Given the description of an element on the screen output the (x, y) to click on. 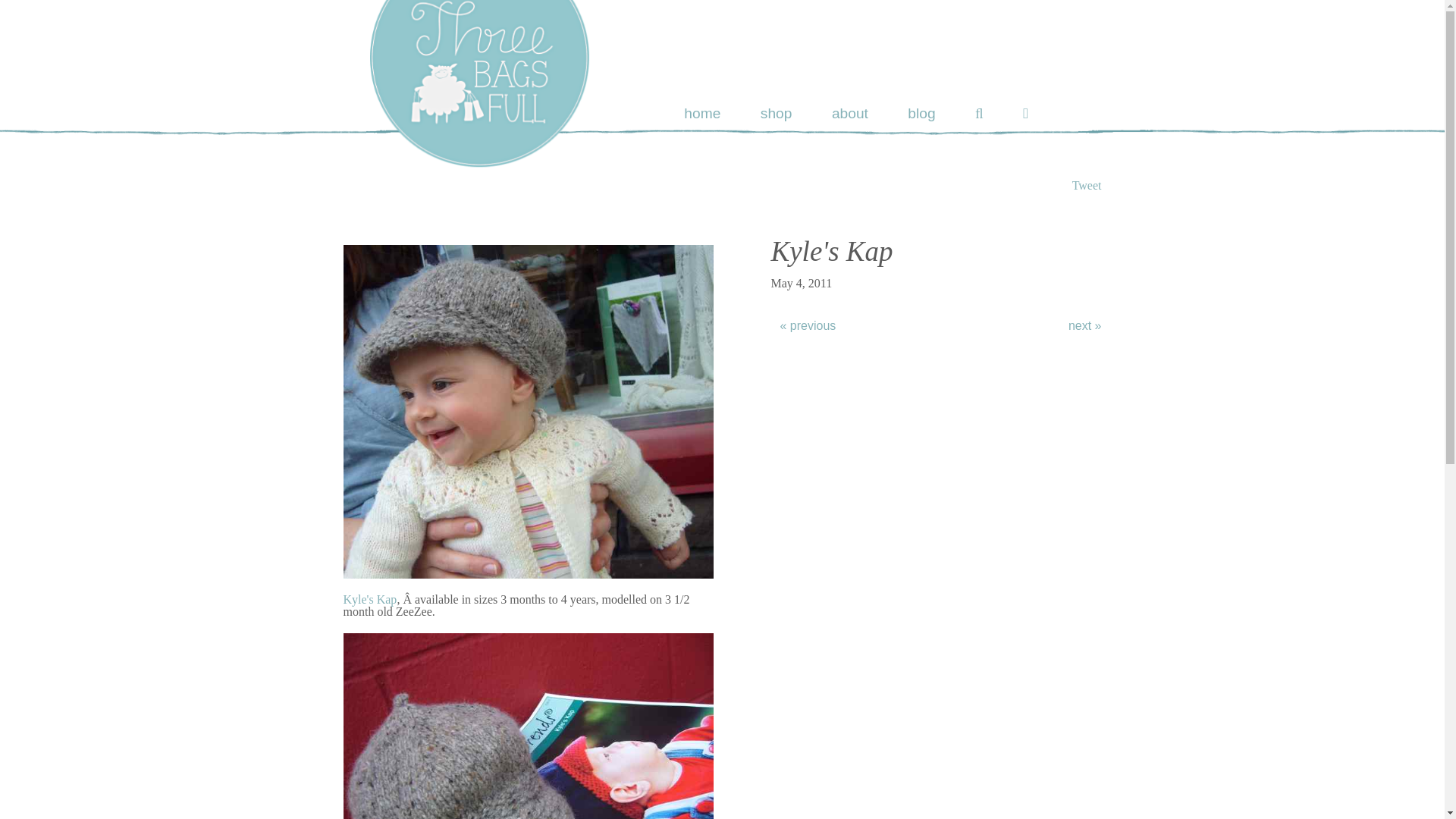
zeezee (527, 411)
about (849, 113)
Tweet (1086, 185)
home (702, 113)
shop (776, 113)
blog (920, 113)
Kyle's Kap (369, 599)
Kyle's Kap1 (527, 726)
